Given the description of an element on the screen output the (x, y) to click on. 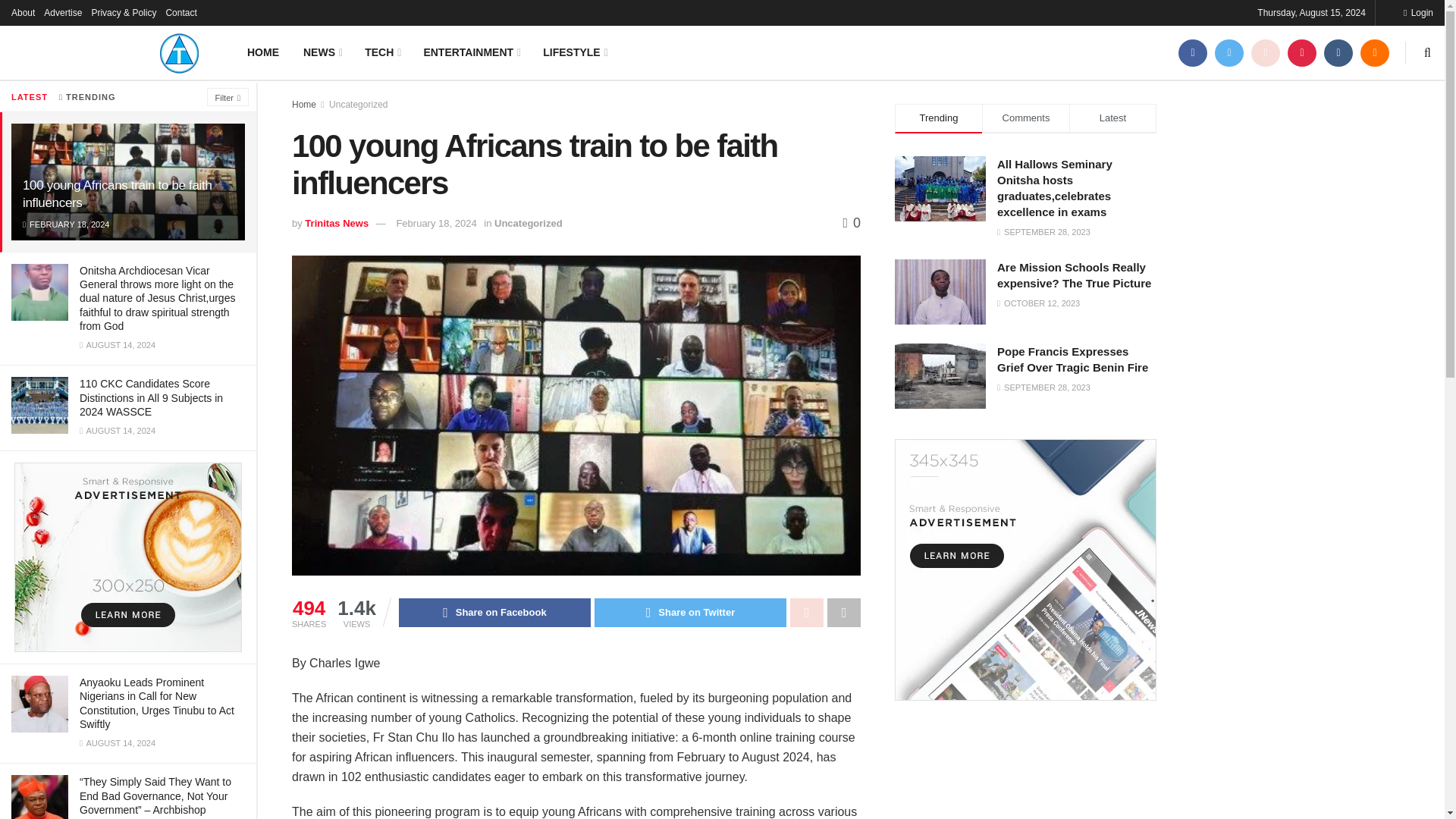
100 young Africans train to be faith influencers (117, 193)
About (22, 12)
Advertise (62, 12)
Filter (227, 96)
